Given the description of an element on the screen output the (x, y) to click on. 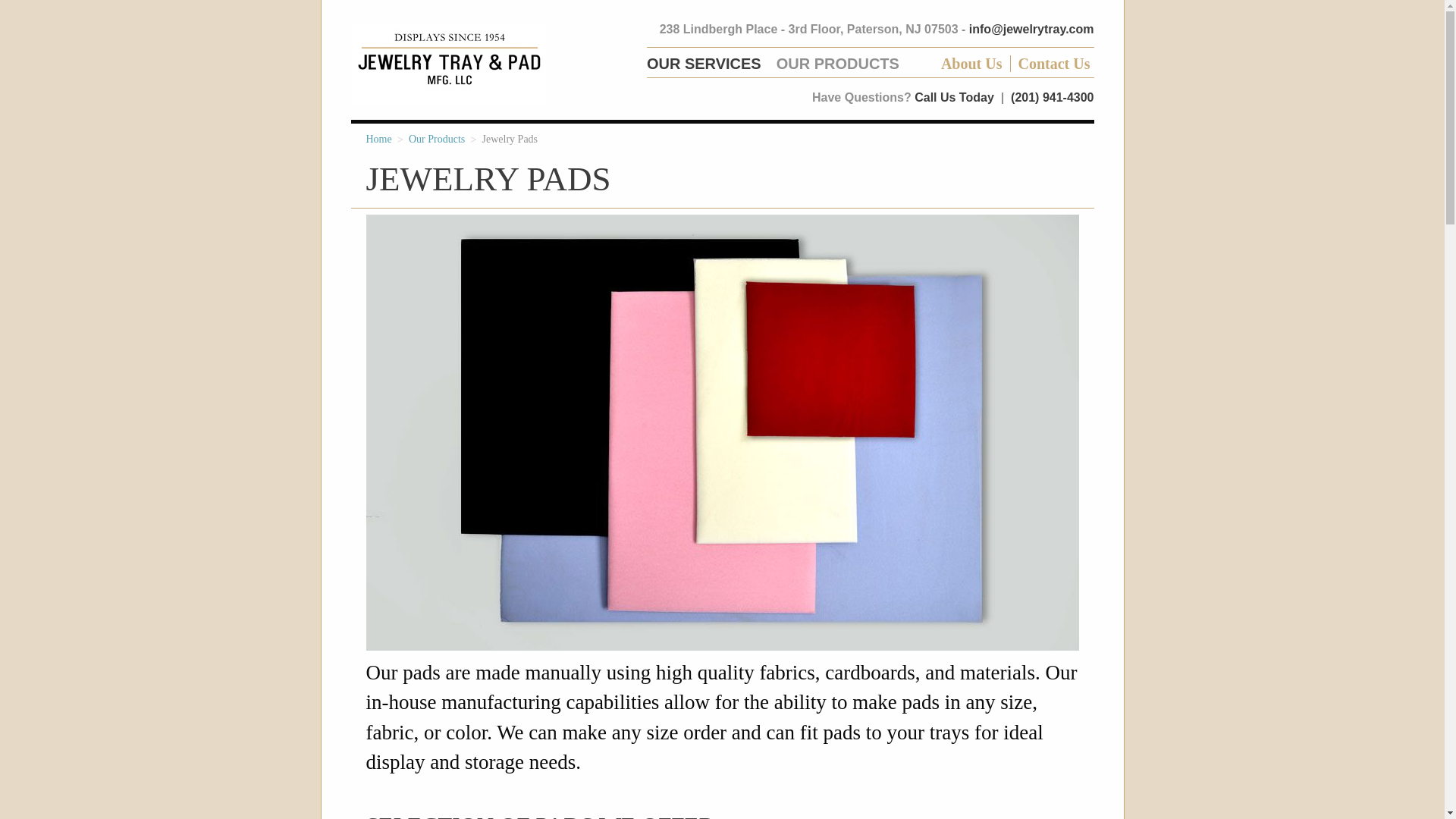
About Us (960, 63)
Home (378, 138)
Our Products (436, 138)
OUR SERVICES (703, 63)
Contact Us (1053, 63)
OUR PRODUCTS (837, 63)
